Given the description of an element on the screen output the (x, y) to click on. 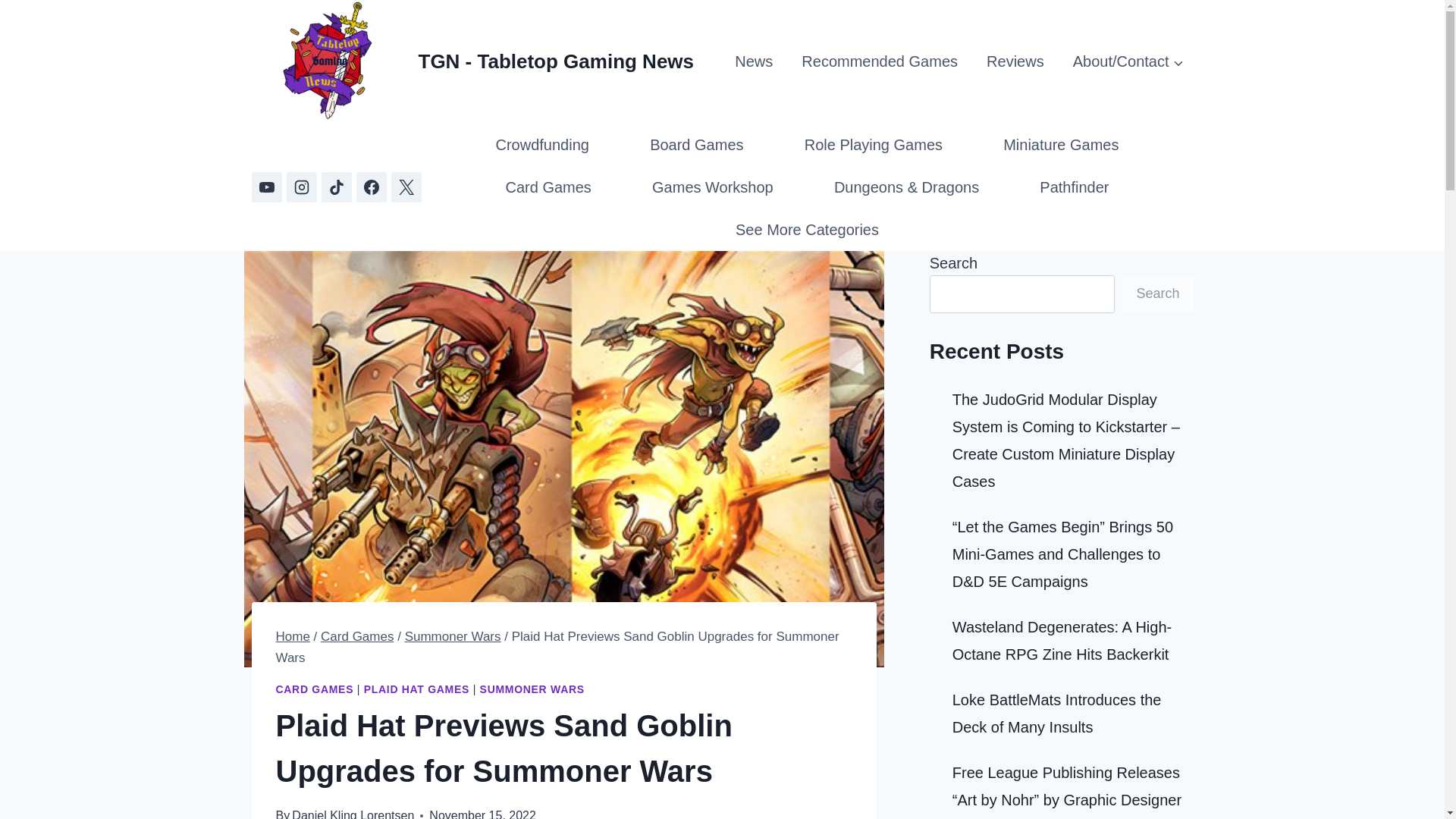
CARD GAMES (314, 689)
PLAID HAT GAMES (416, 689)
Daniel Kling Lorentsen (352, 814)
Home (293, 636)
TGN - Tabletop Gaming News (472, 61)
Reviews (1014, 61)
Pathfinder (1073, 187)
Crowdfunding (542, 144)
Recommended Games (879, 61)
See More Categories (806, 229)
Role Playing Games (874, 144)
Board Games (697, 144)
SUMMONER WARS (532, 689)
Summoner Wars (452, 636)
News (753, 61)
